Given the description of an element on the screen output the (x, y) to click on. 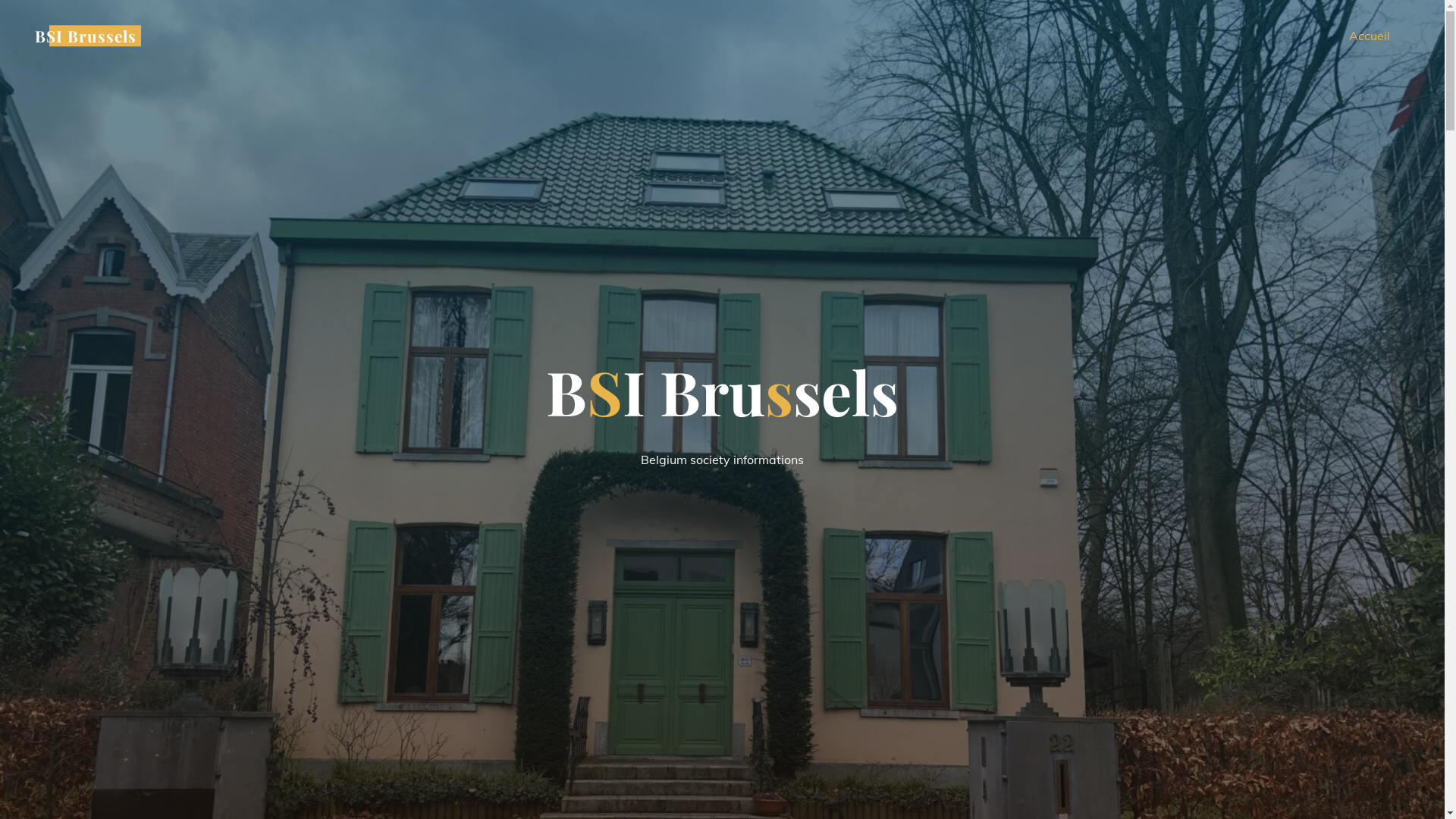
Accueil Element type: text (1369, 35)
BSI Brussels Element type: text (85, 35)
Lire la suite Element type: hover (721, 726)
